Given the description of an element on the screen output the (x, y) to click on. 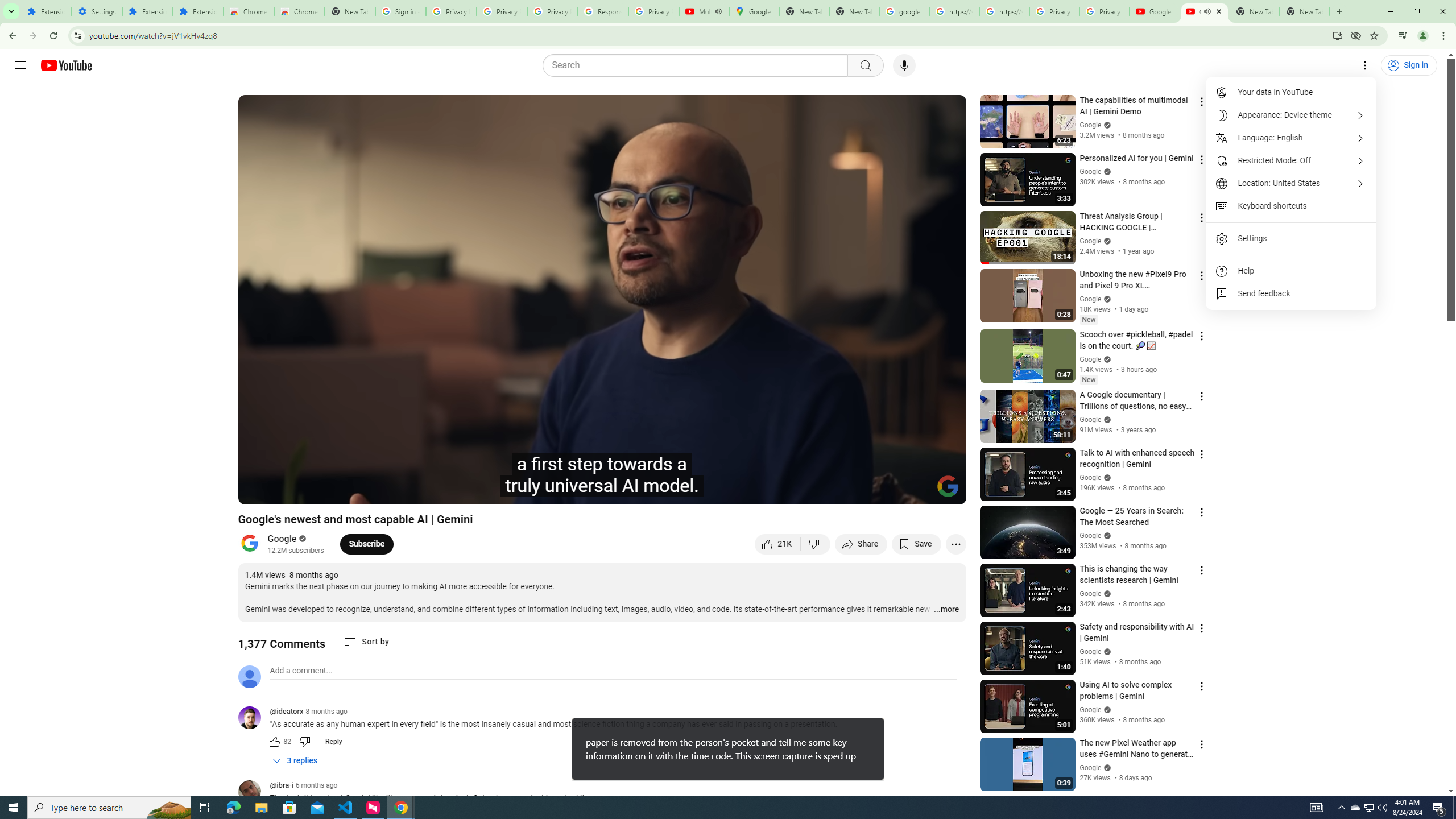
Full screen (f) (945, 490)
Theater mode (t) (917, 490)
Mute keyboard shortcut m (312, 490)
Chrome Web Store - Themes (299, 11)
Guide (20, 65)
Dislike this comment (304, 741)
